Given the description of an element on the screen output the (x, y) to click on. 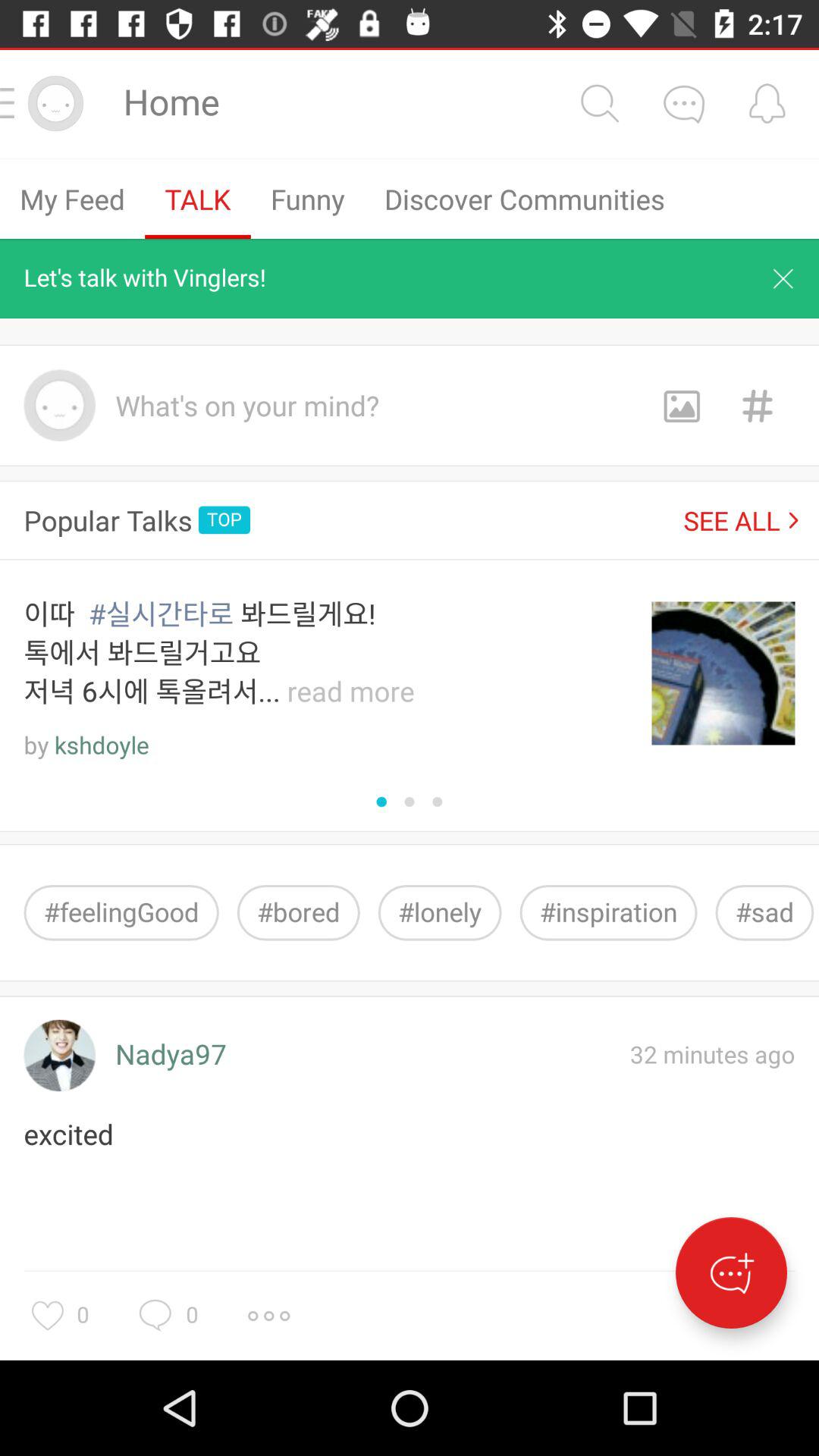
click the item next to by (101, 745)
